Given the description of an element on the screen output the (x, y) to click on. 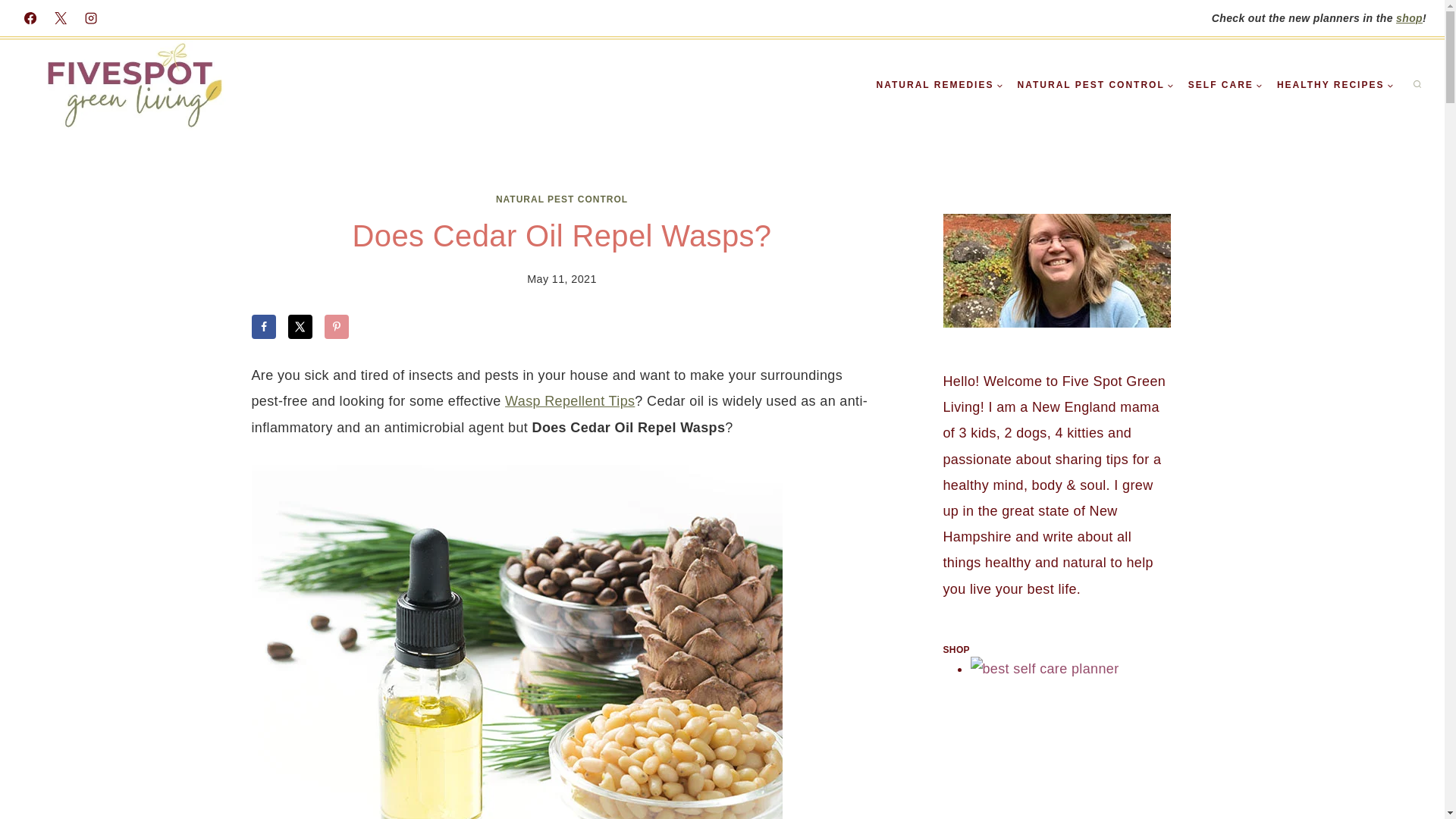
Share on Facebook (263, 326)
SELF CARE (1224, 85)
shop (1409, 18)
NATURAL PEST CONTROL (561, 199)
HEALTHY RECIPES (1334, 85)
NATURAL REMEDIES (939, 85)
NATURAL PEST CONTROL (1095, 85)
Wasp Repellent Tips (569, 400)
Save to Pinterest (336, 326)
Share on X (300, 326)
